Given the description of an element on the screen output the (x, y) to click on. 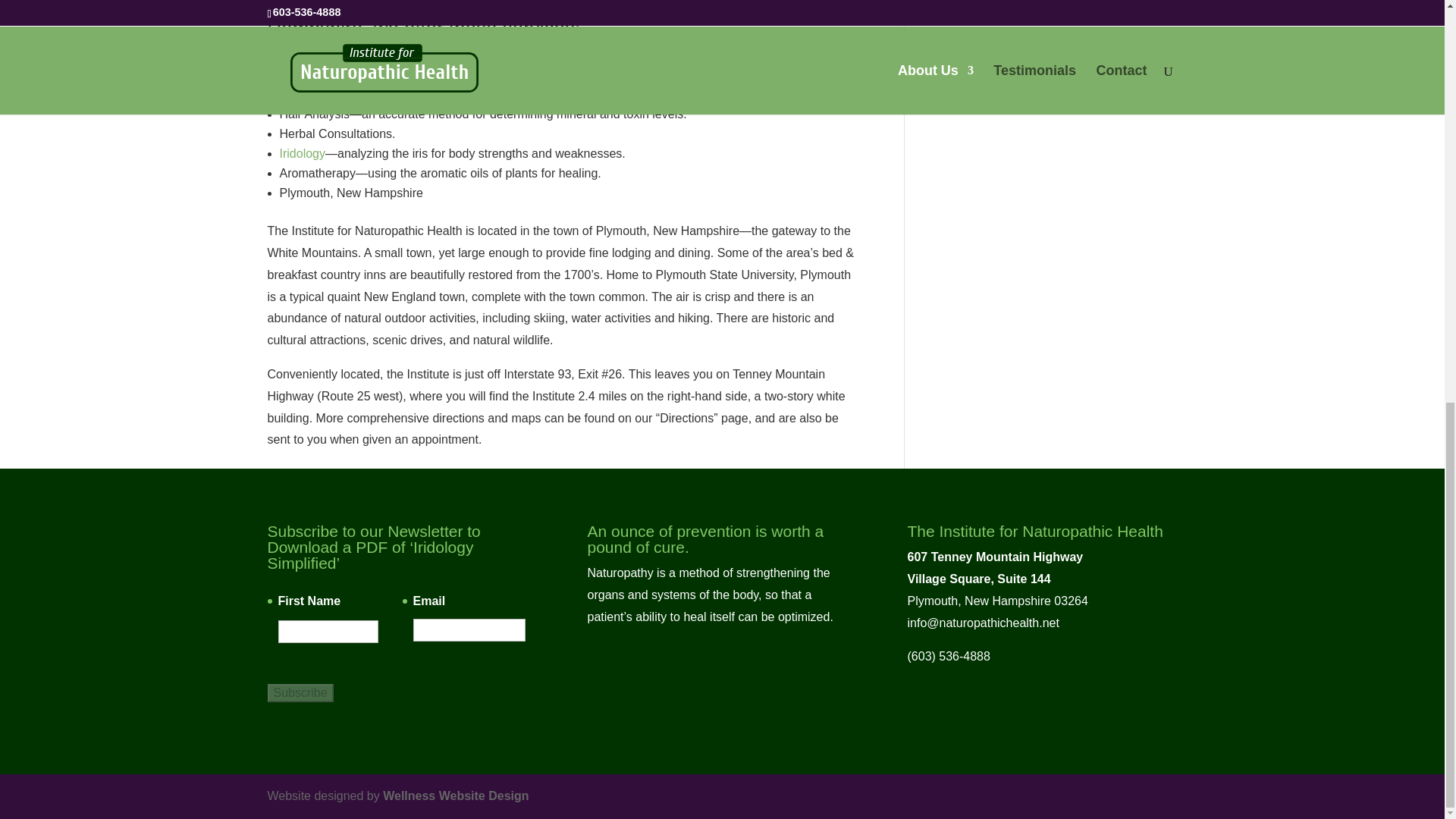
Subscribe (299, 692)
Wellness Website Design (455, 795)
Iridology (301, 153)
Subscribe (299, 692)
